Given the description of an element on the screen output the (x, y) to click on. 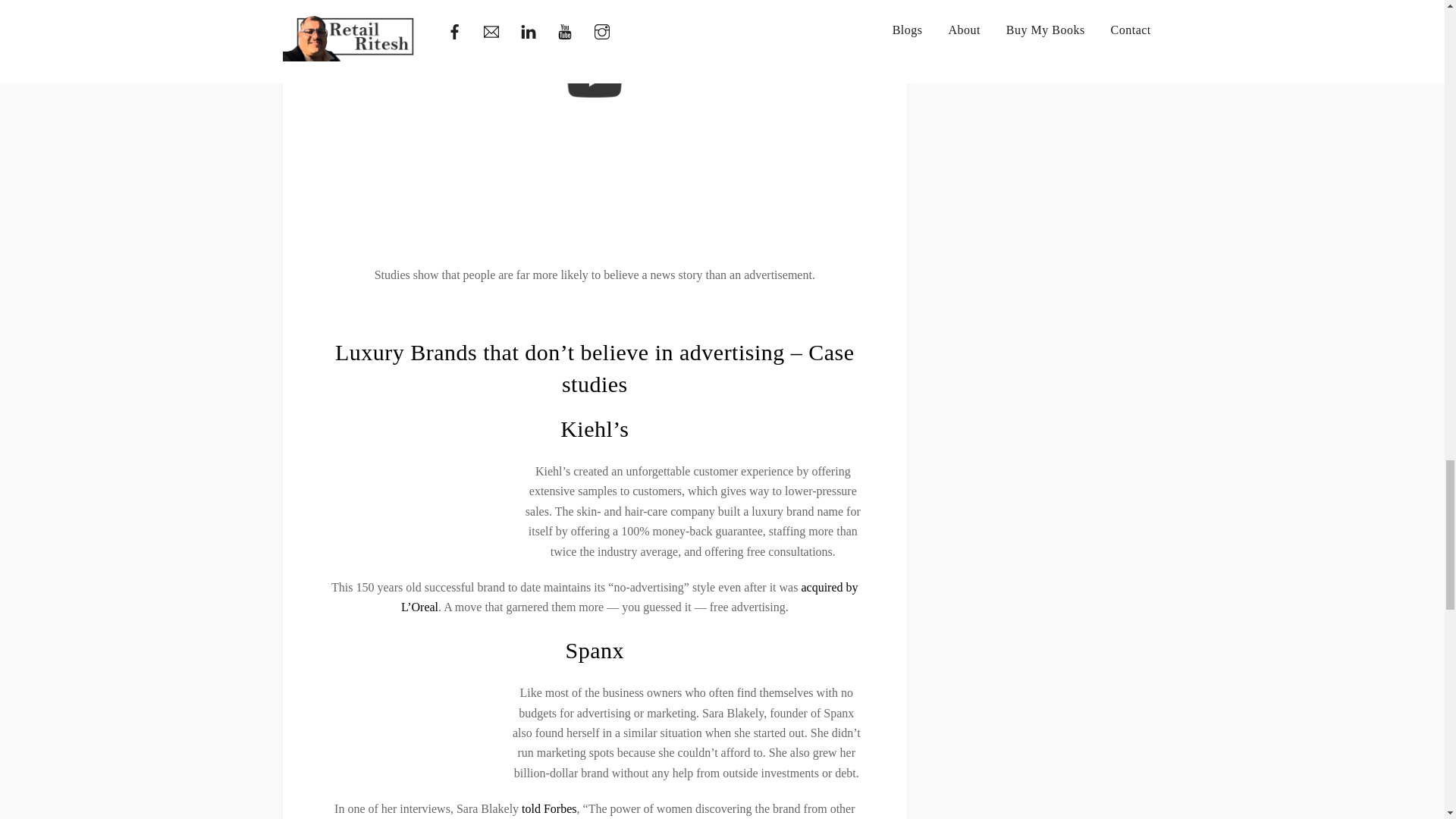
Spanx (595, 650)
told Forbes (548, 808)
